Given the description of an element on the screen output the (x, y) to click on. 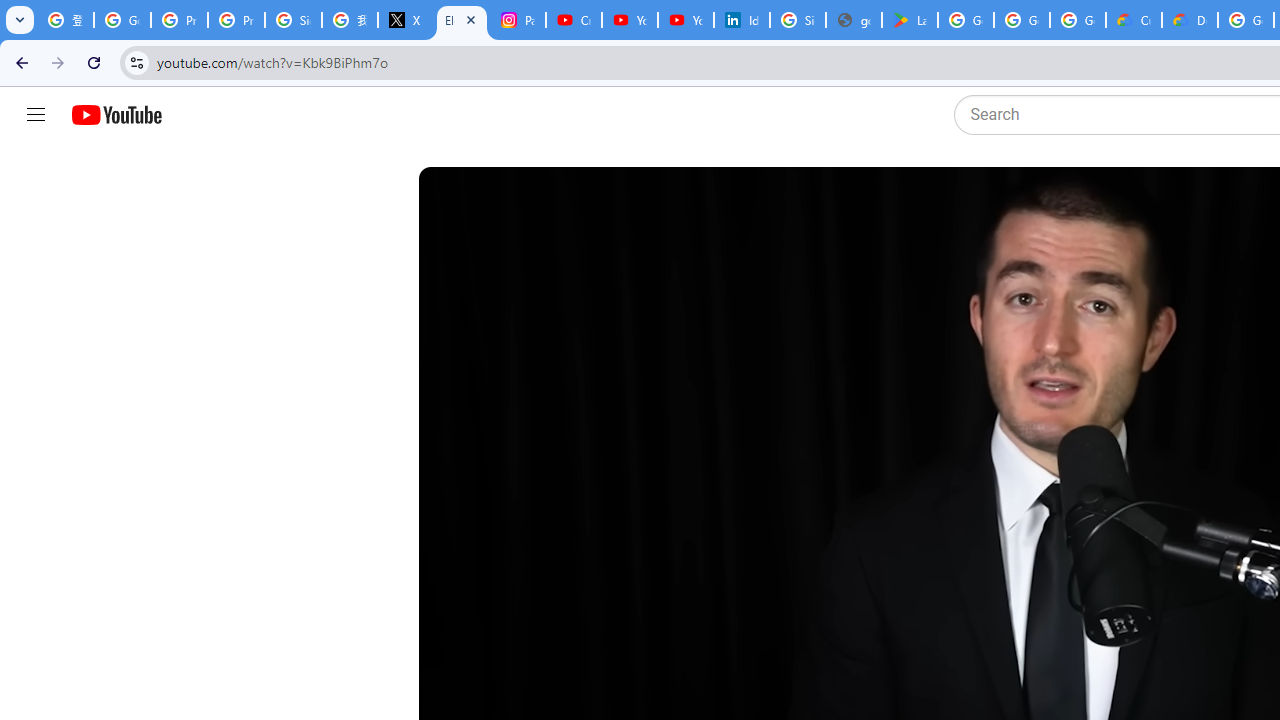
Privacy Help Center - Policies Help (179, 20)
YouTube Culture & Trends - YouTube Top 10, 2021 (685, 20)
Google Workspace - Specific Terms (1021, 20)
Sign in - Google Accounts (293, 20)
